Given the description of an element on the screen output the (x, y) to click on. 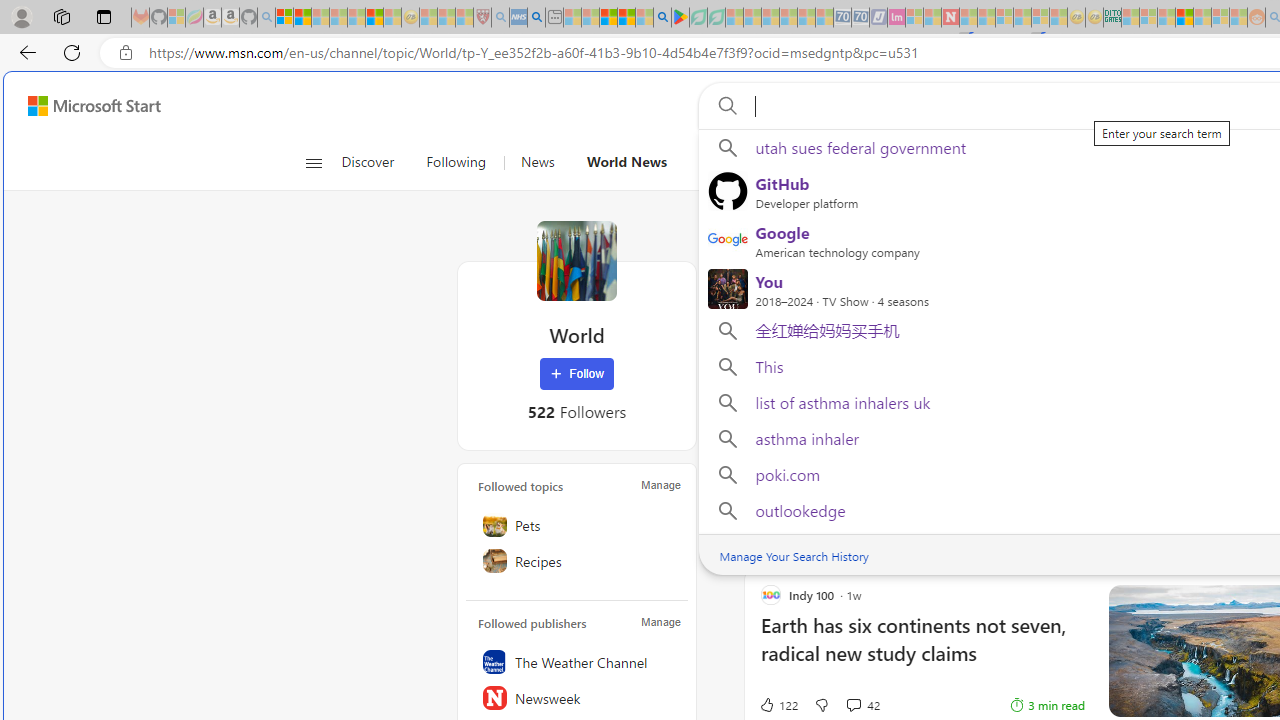
Pets - MSN (626, 17)
